Given the description of an element on the screen output the (x, y) to click on. 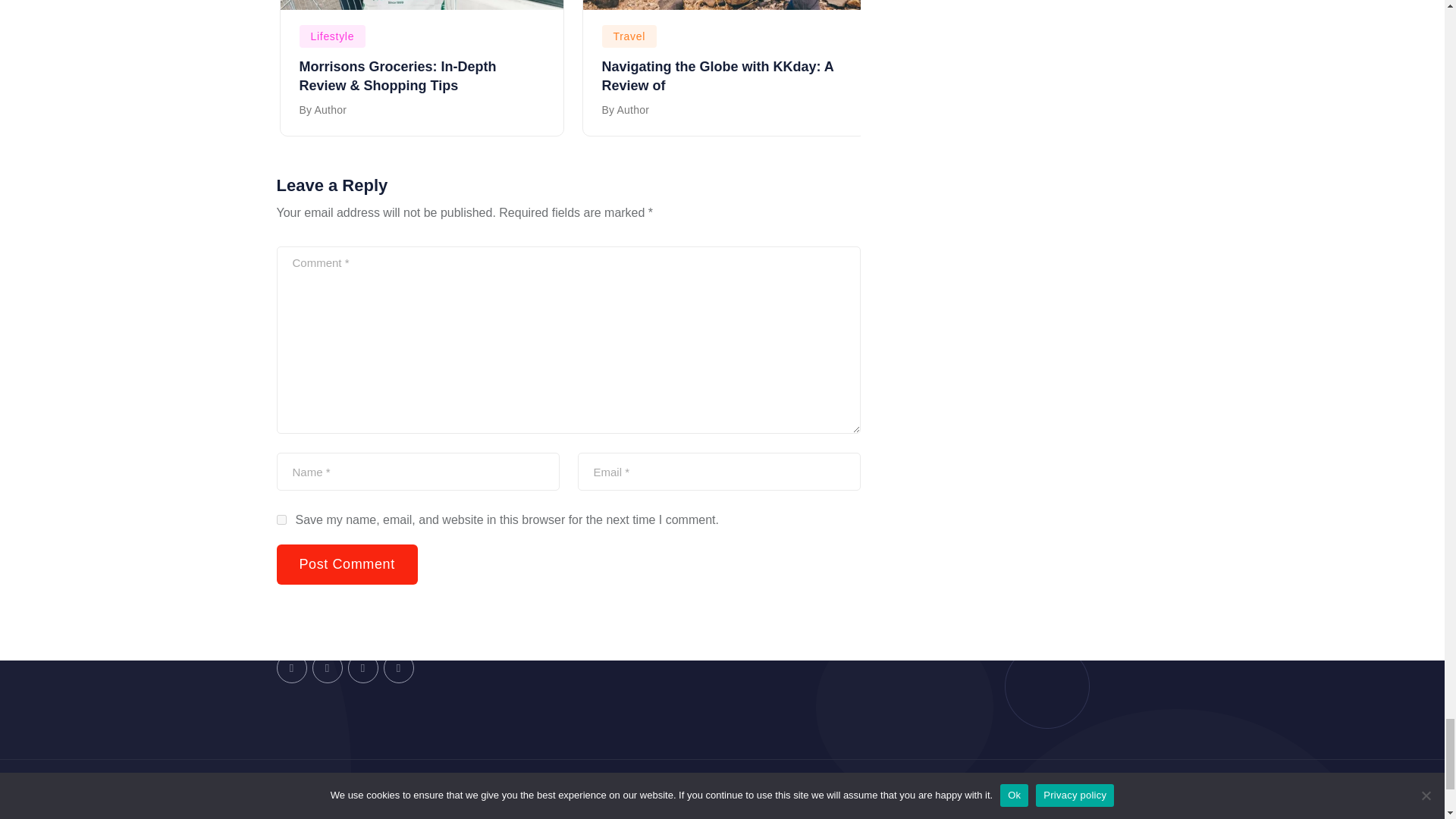
Posts by Author (633, 110)
Post Comment (346, 564)
yes (280, 519)
Posts by Author (330, 110)
